Given the description of an element on the screen output the (x, y) to click on. 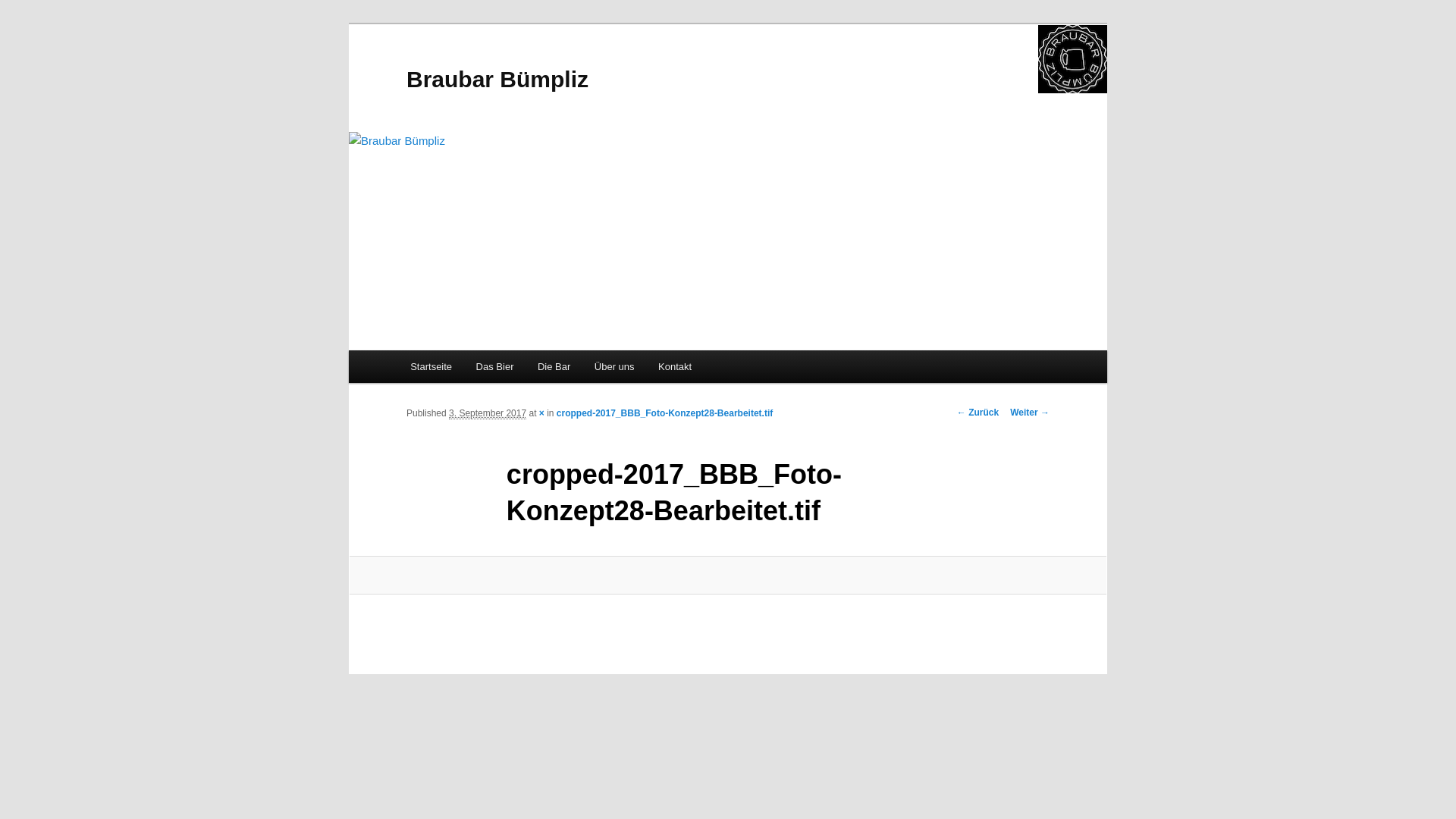
Suchen Element type: text (25, 8)
Zum Inhalt wechseln Element type: text (22, 22)
cropped-2017_BBB_Foto-Konzept28-Bearbeitet.tif Element type: text (664, 412)
cropped-2017_BBB_Foto-Konzept28-Bearbeitet.tif Element type: hover (727, 574)
Kontakt Element type: text (674, 366)
Die Bar Element type: text (553, 366)
Startseite Element type: text (430, 366)
Das Bier Element type: text (494, 366)
